Given the description of an element on the screen output the (x, y) to click on. 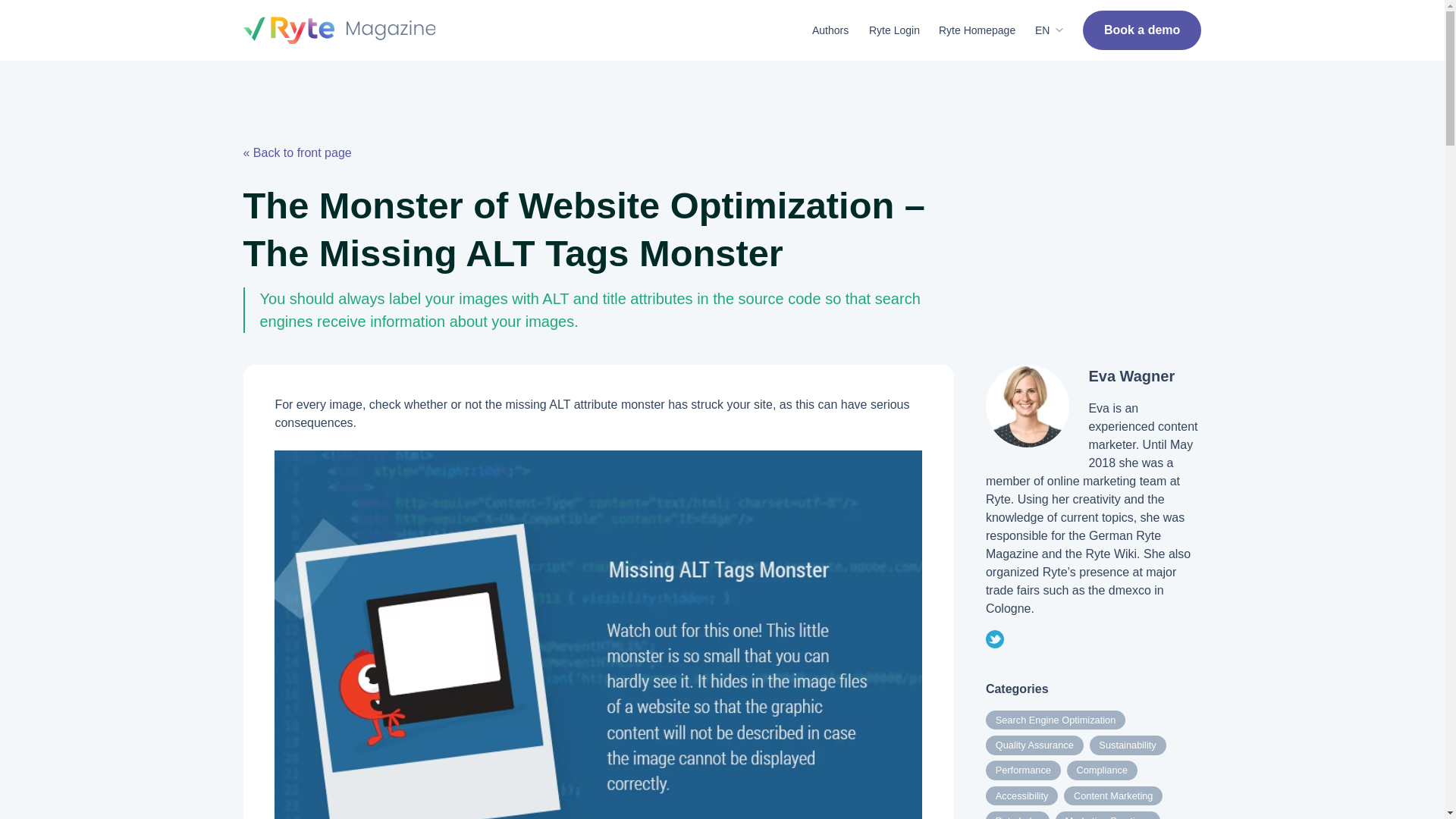
Eva Wagner (1130, 375)
Eva Wagner (1026, 405)
Ryte Login (894, 30)
Book a demo (1142, 29)
Performance (1023, 769)
EN (1048, 29)
Search Engine Optimization (1055, 719)
Accessibility (1021, 795)
Content Marketing (1112, 795)
Sustainability (1127, 744)
Quality Assurance (1034, 744)
Data Labs (1017, 815)
Ryte Homepage (976, 30)
Compliance (1102, 769)
Authors (830, 30)
